Given the description of an element on the screen output the (x, y) to click on. 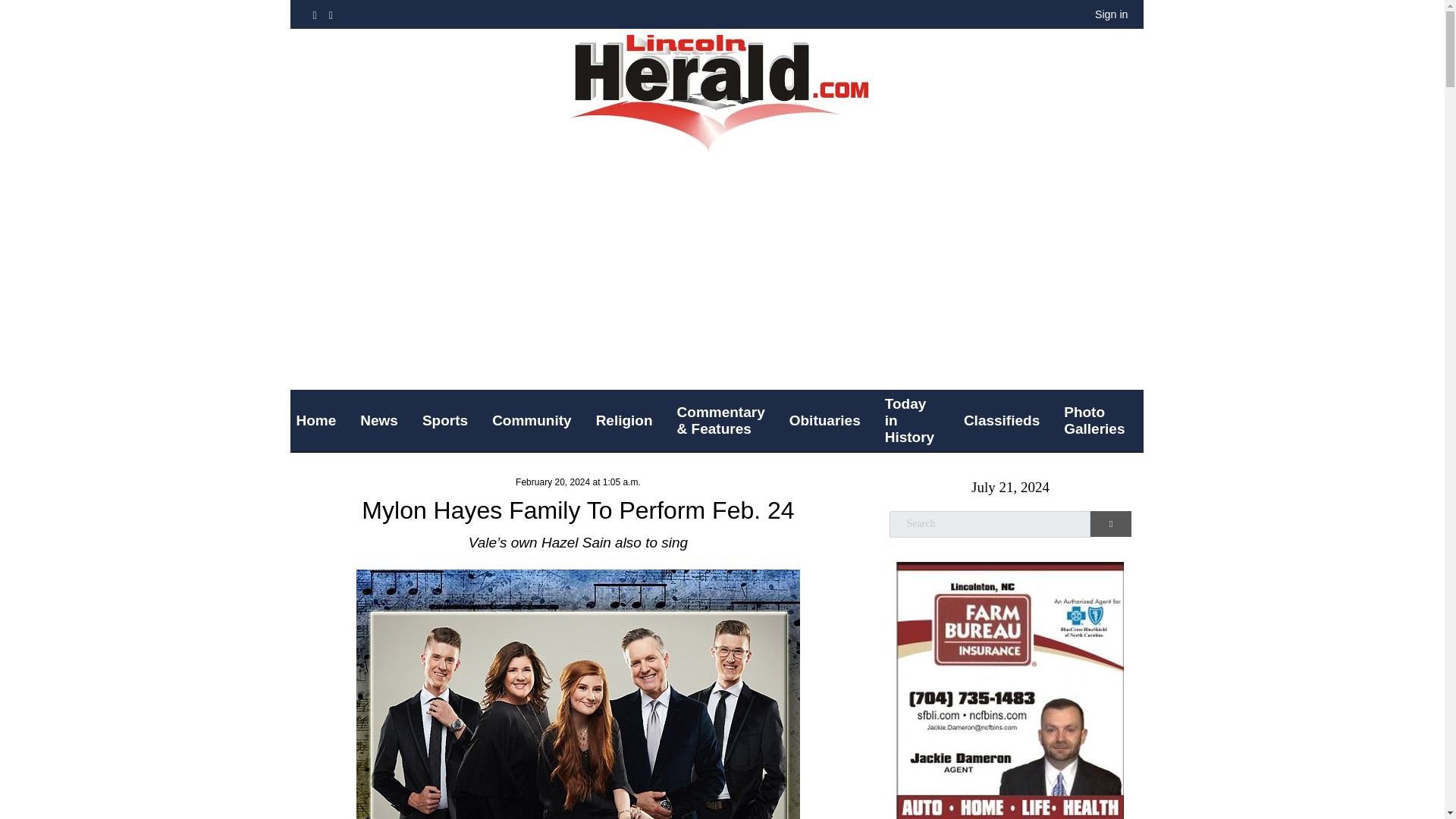
Religion (630, 420)
Sign in (1111, 14)
Photo Galleries (1100, 420)
Obituaries (831, 420)
Community (537, 420)
News (384, 420)
Sports (451, 420)
Home (321, 420)
Today in History (918, 420)
Classifieds (1008, 420)
